Given the description of an element on the screen output the (x, y) to click on. 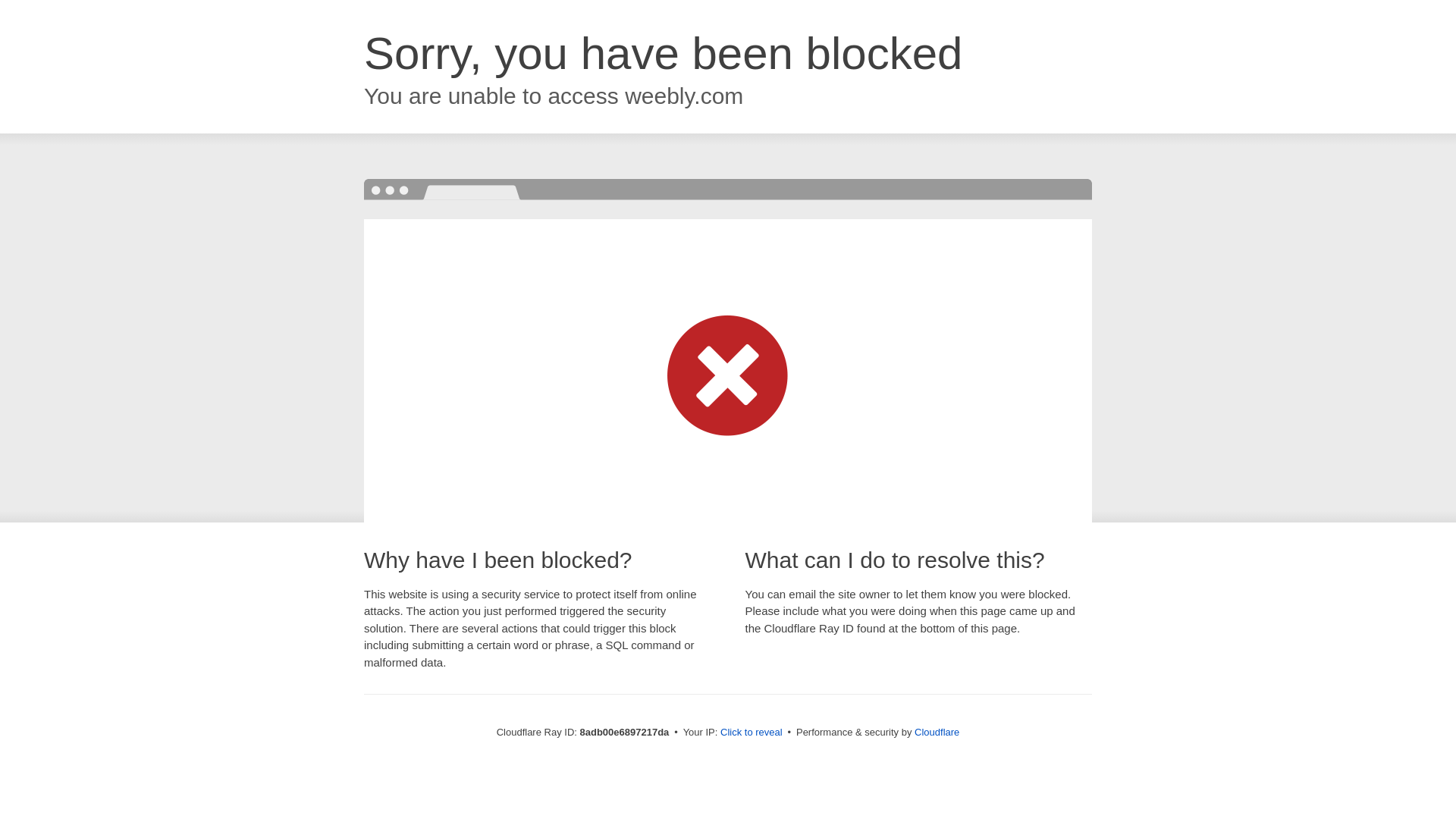
Cloudflare (936, 731)
Click to reveal (751, 732)
